Given the description of an element on the screen output the (x, y) to click on. 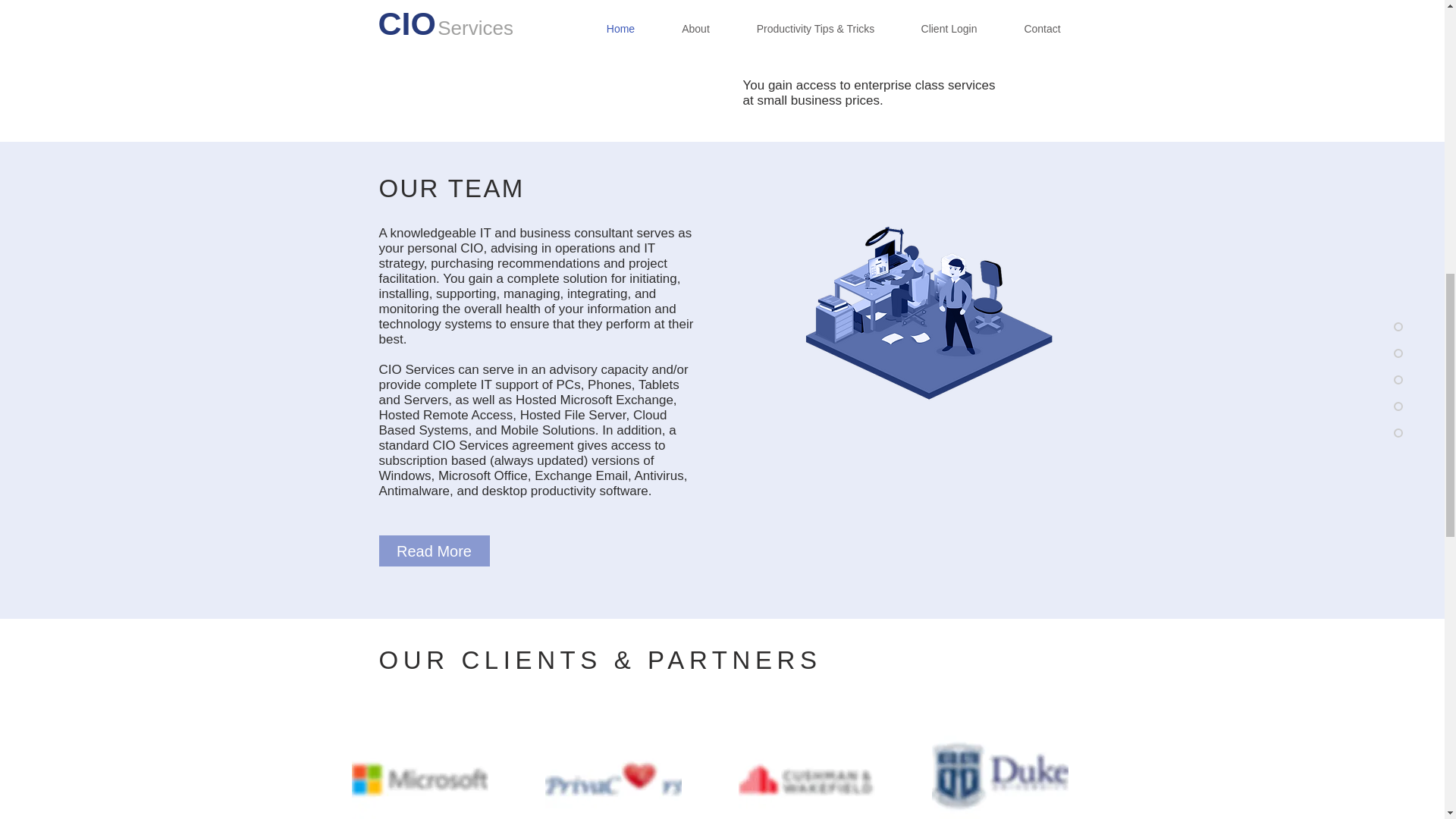
Read More (433, 550)
